Given the description of an element on the screen output the (x, y) to click on. 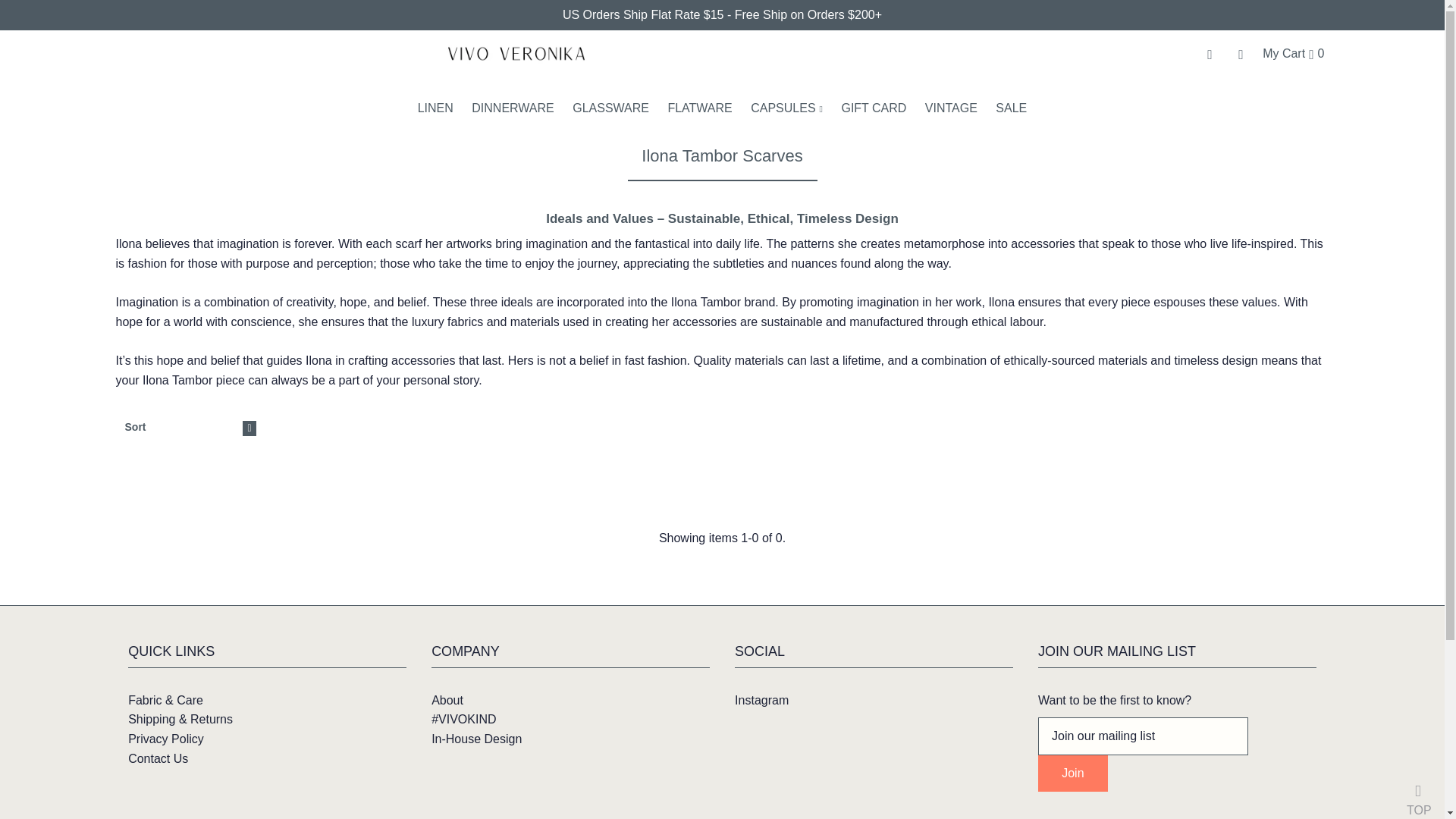
CAPSULES (785, 107)
FLATWARE (699, 107)
GLASSWARE (610, 107)
GIFT CARD (873, 107)
SALE (1010, 107)
VINTAGE (951, 107)
LINEN (435, 107)
TOP (1417, 792)
Join (1073, 773)
My Cart0 (1292, 53)
